Given the description of an element on the screen output the (x, y) to click on. 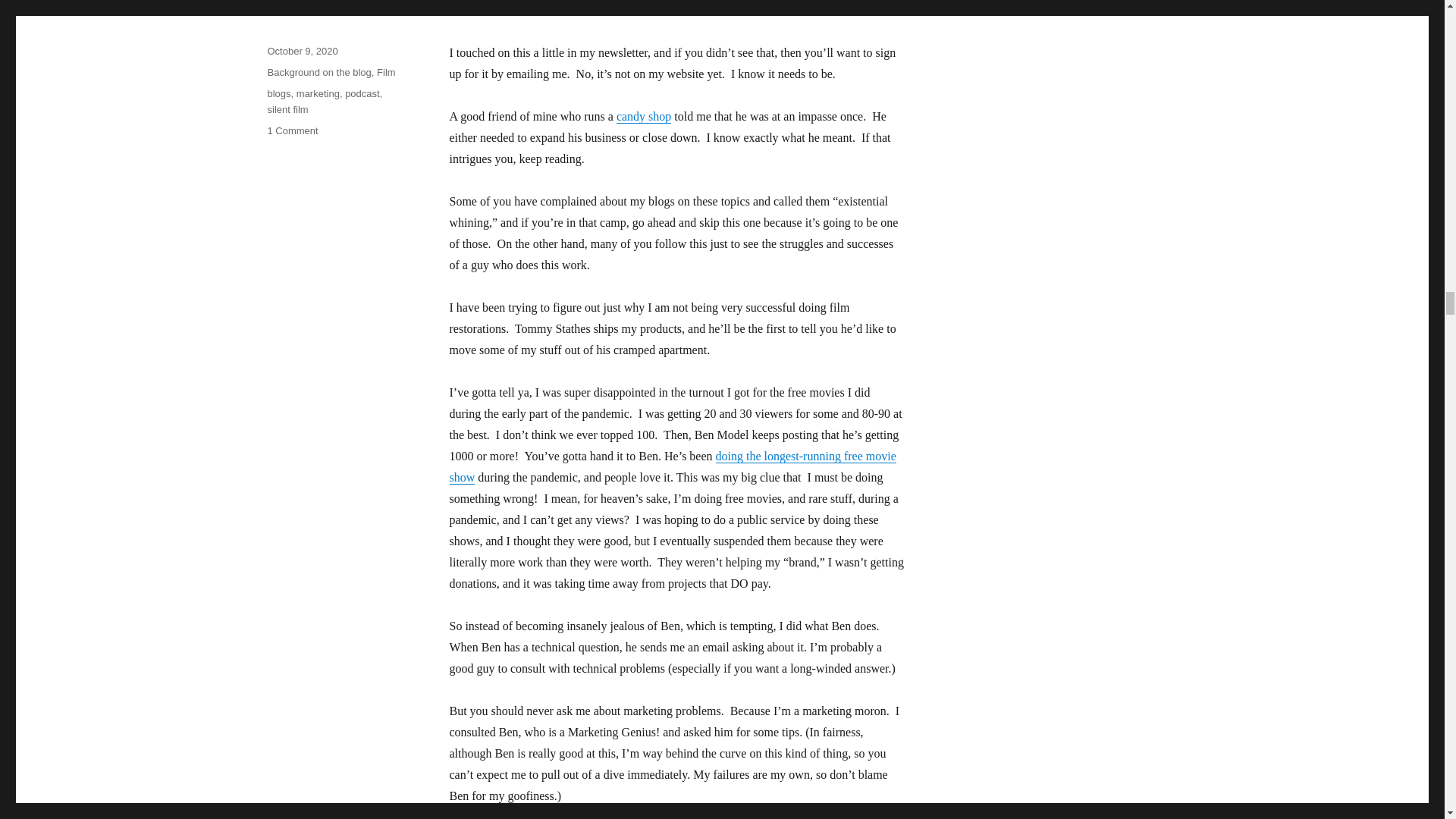
The Road Ahead (385, 4)
doing the longest-running free movie show (671, 466)
October 9, 2020 (301, 50)
candy shop (643, 115)
